Given the description of an element on the screen output the (x, y) to click on. 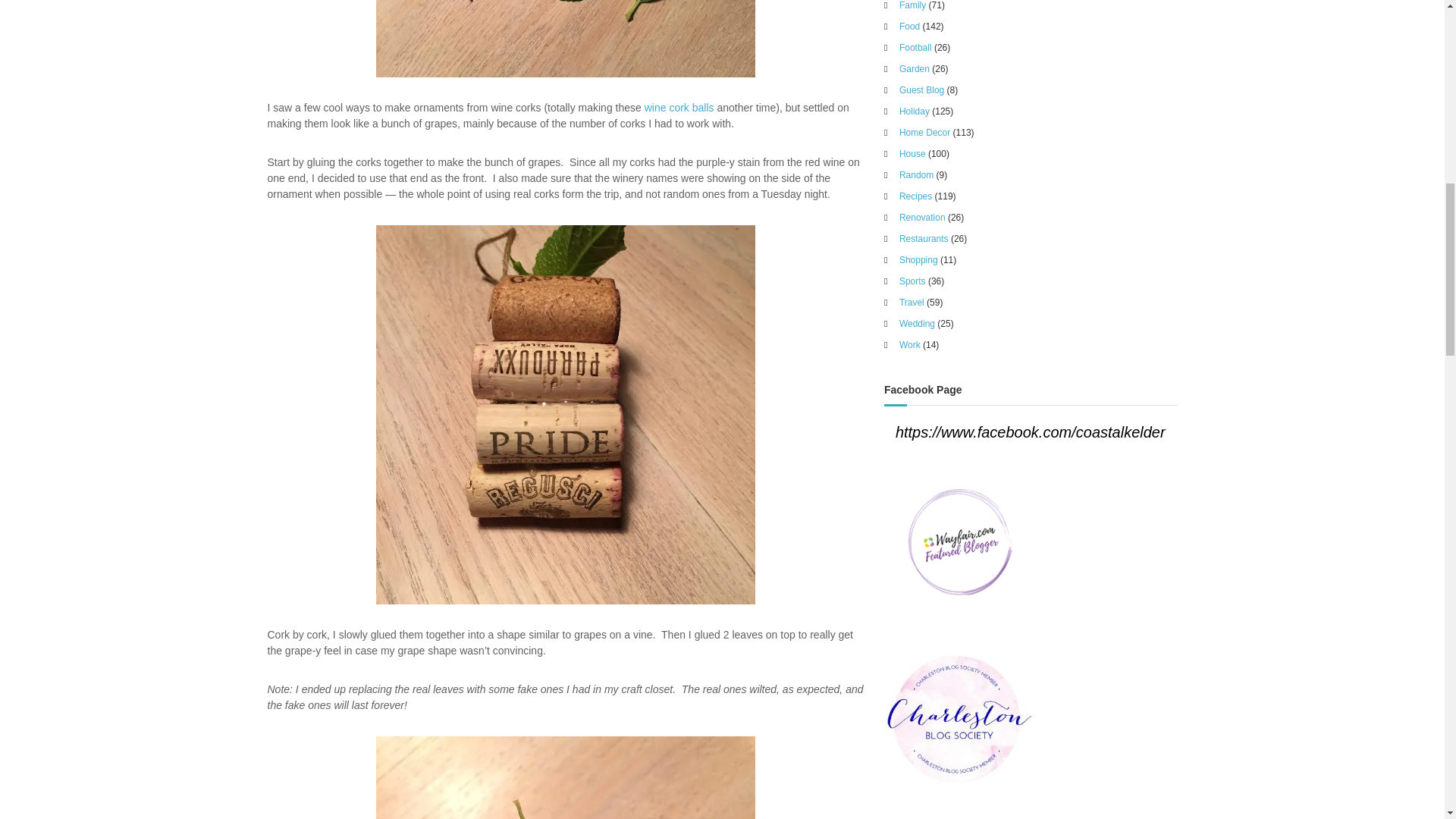
wine cork balls (679, 107)
